Given the description of an element on the screen output the (x, y) to click on. 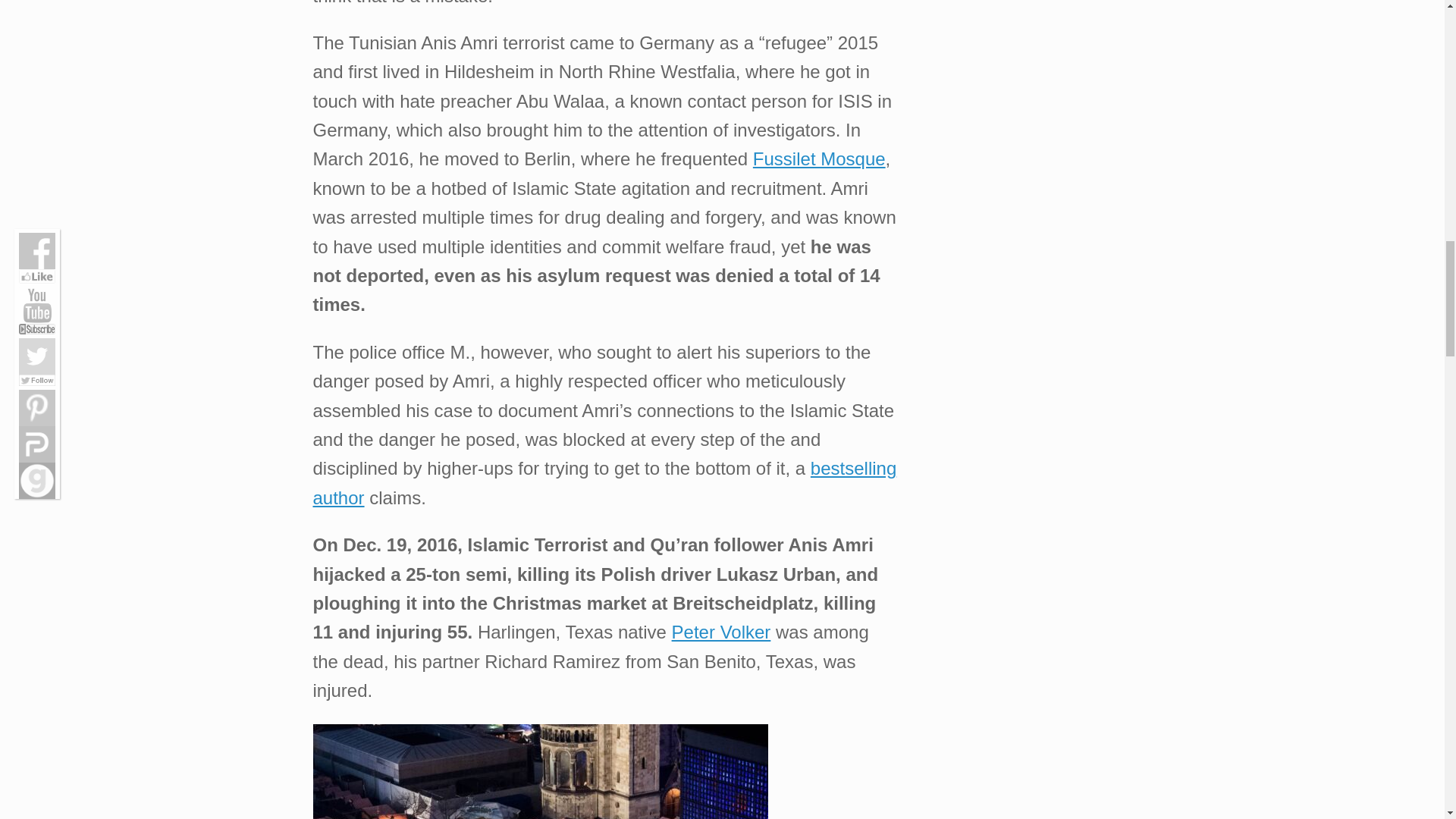
Peter Volker (721, 631)
bestselling author (604, 481)
Fussilet Mosque (818, 158)
